Given the description of an element on the screen output the (x, y) to click on. 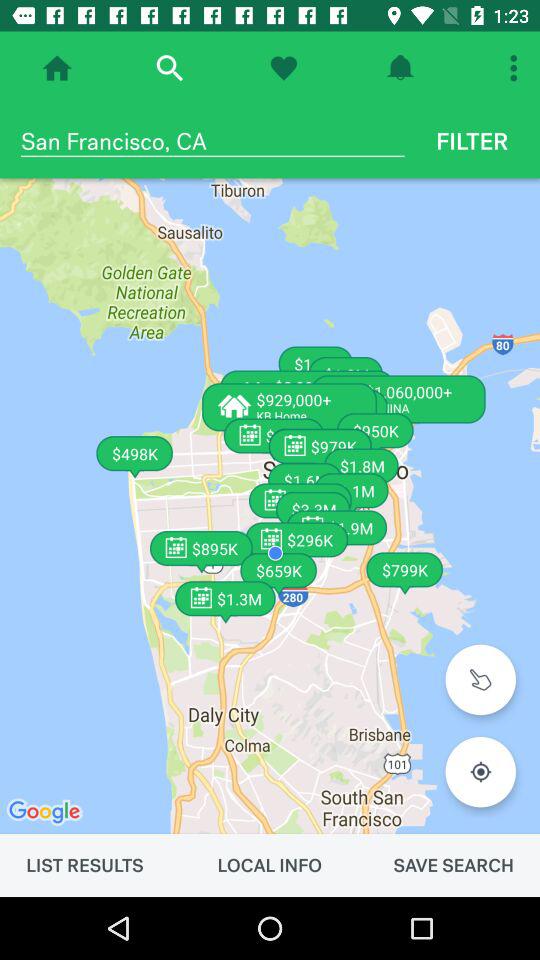
turn off filter (472, 141)
